Given the description of an element on the screen output the (x, y) to click on. 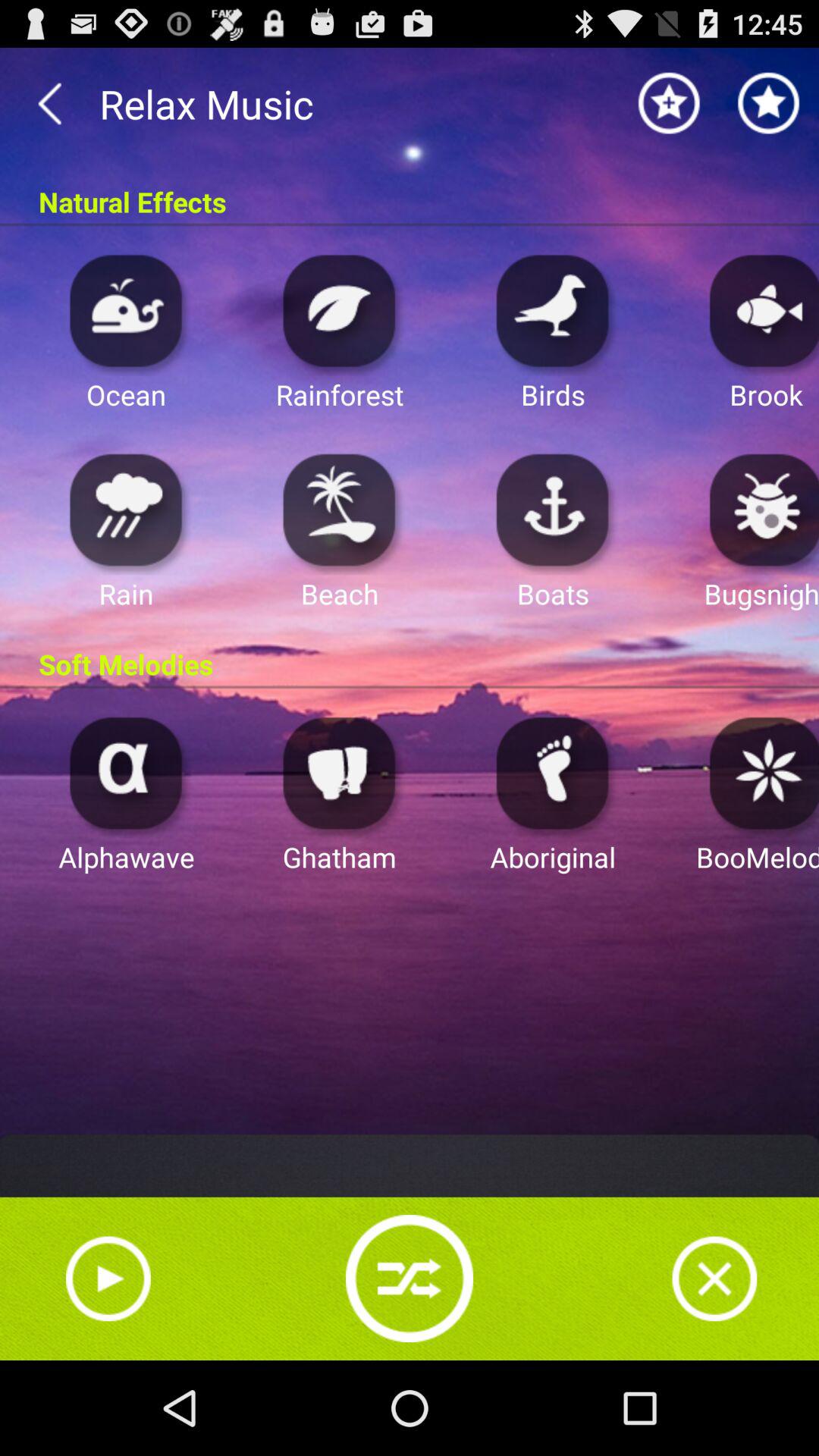
select app (759, 772)
